Given the description of an element on the screen output the (x, y) to click on. 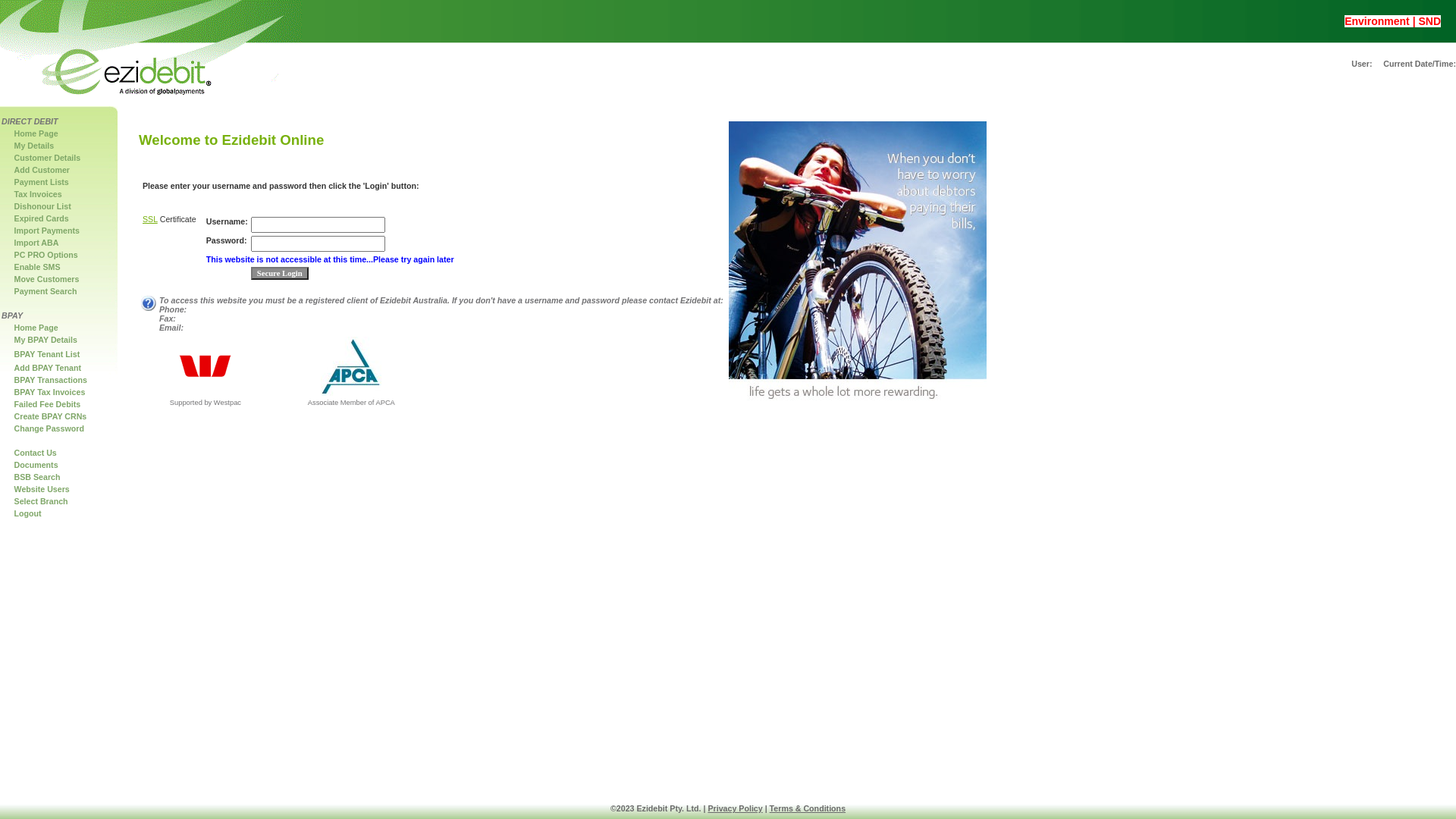
SSL Element type: text (149, 218)
Import ABA Element type: text (36, 242)
BPAY Tax Invoices Element type: text (49, 391)
BPAY Tenant List Element type: text (47, 352)
My BPAY Details Element type: text (45, 339)
Move Customers Element type: text (46, 278)
Documents Element type: text (36, 464)
Add Customer Element type: text (41, 169)
Dishonour List Element type: text (42, 205)
BPAY Transactions Element type: text (50, 379)
Expired Cards Element type: text (41, 217)
BSB Search Element type: text (37, 476)
Contact Us Element type: text (35, 452)
Home Page Element type: text (36, 327)
Create BPAY CRNs Element type: text (50, 415)
PC PRO Options Element type: text (46, 254)
Enable SMS Element type: text (37, 266)
Select Branch Element type: text (41, 500)
Website Users Element type: text (41, 488)
Add BPAY Tenant Element type: text (47, 367)
Failed Fee Debits Element type: text (47, 403)
My Details Element type: text (34, 145)
Privacy Policy Element type: text (734, 807)
Payment Search Element type: text (45, 290)
Tax Invoices Element type: text (38, 193)
Payment Lists Element type: text (41, 181)
Terms & Conditions Element type: text (807, 807)
Home Page Element type: text (36, 133)
Import Payments Element type: text (46, 230)
Logout Element type: text (27, 512)
Change Password Element type: text (49, 428)
Customer Details Element type: text (47, 157)
Secure Login Element type: text (279, 272)
